Given the description of an element on the screen output the (x, y) to click on. 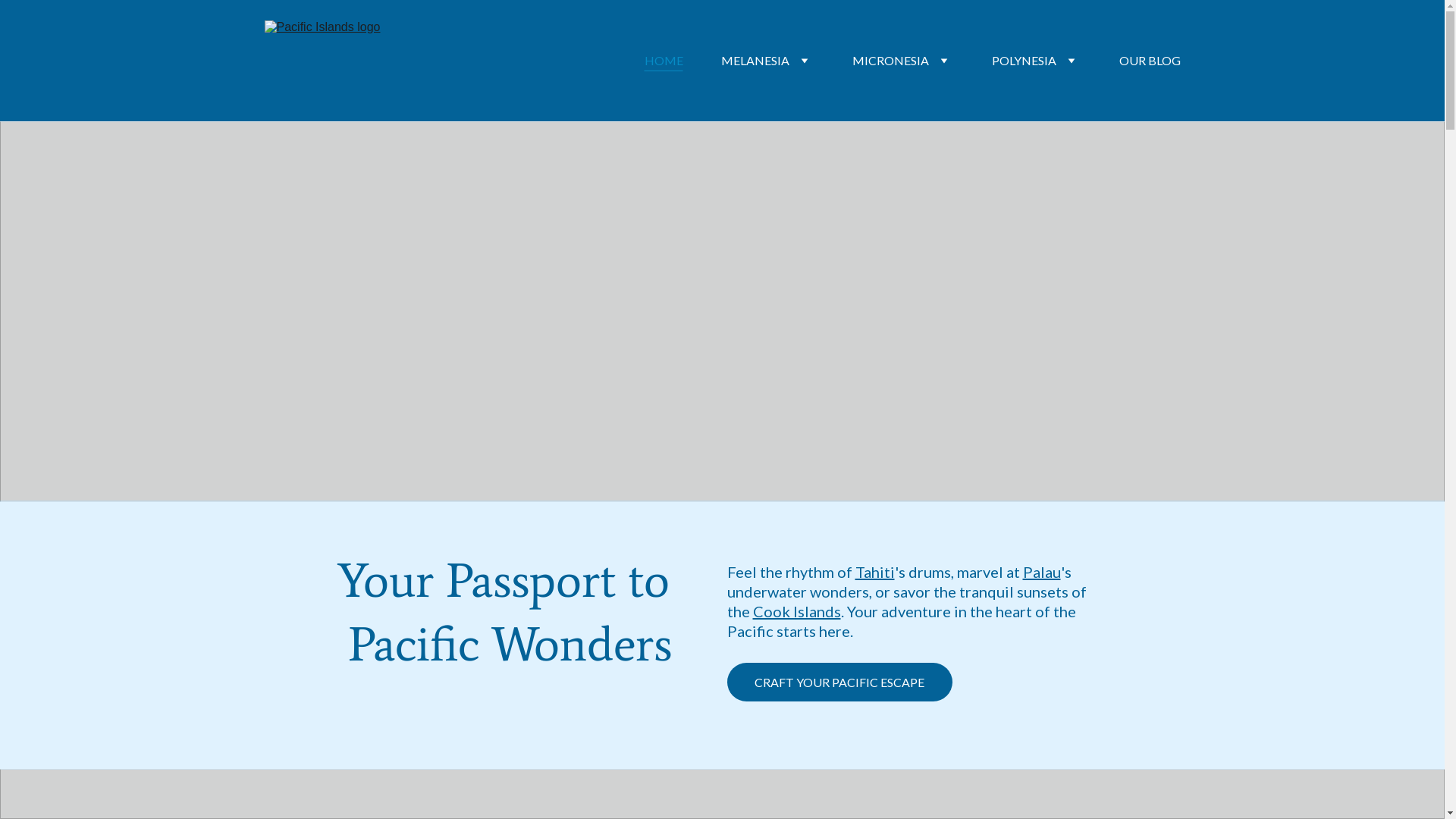
Palau Element type: text (1041, 571)
Cook Islands Element type: text (796, 611)
OUR BLOG Element type: text (1149, 60)
Tahiti Element type: text (874, 571)
CRAFT YOUR PACIFIC ESCAPE Element type: text (838, 681)
HOME Element type: text (663, 60)
